Given the description of an element on the screen output the (x, y) to click on. 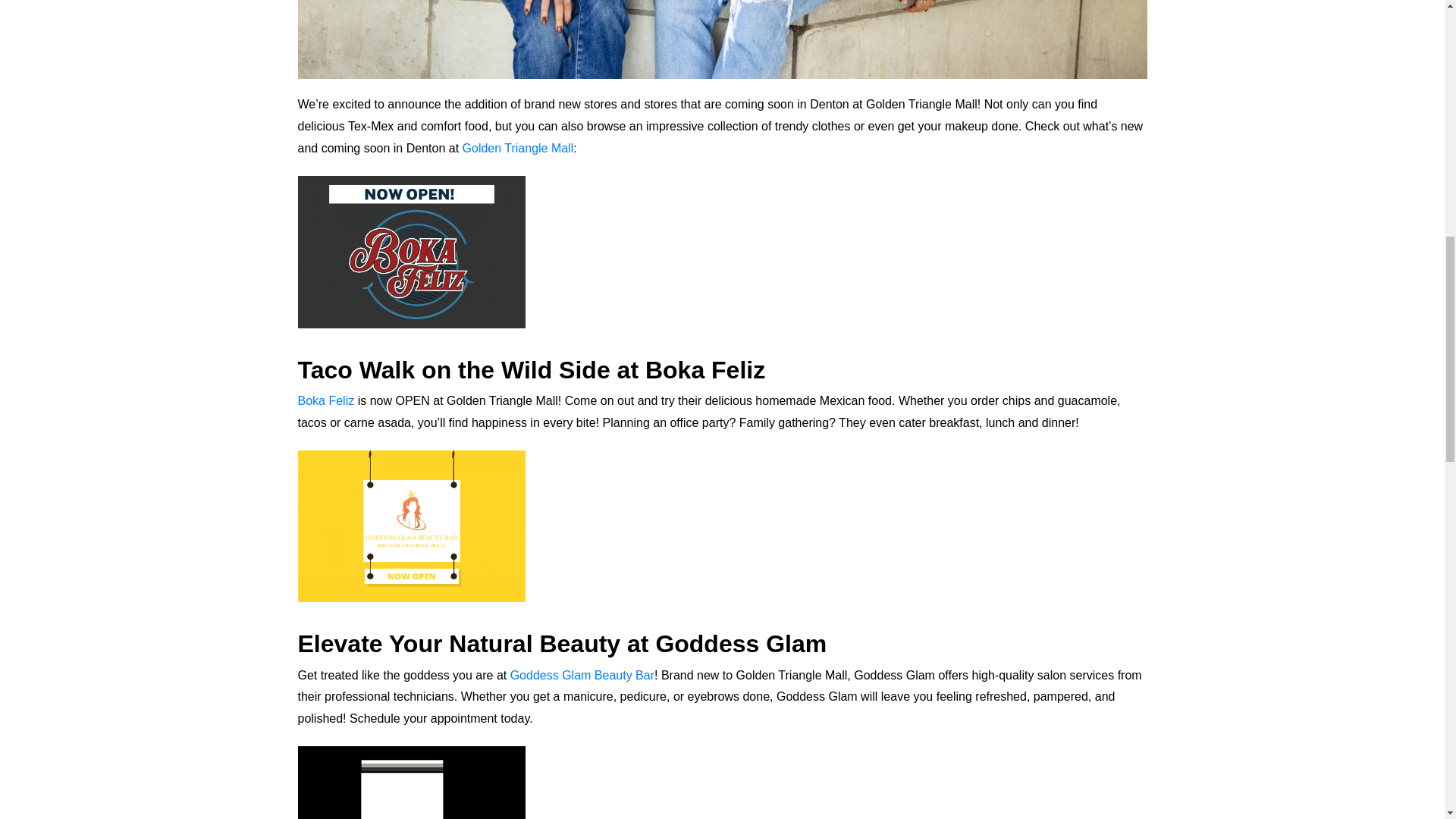
Boka Feliz (325, 400)
Goddess Glam Beauty Bar (582, 675)
Golden Triangle Mall (518, 147)
